Given the description of an element on the screen output the (x, y) to click on. 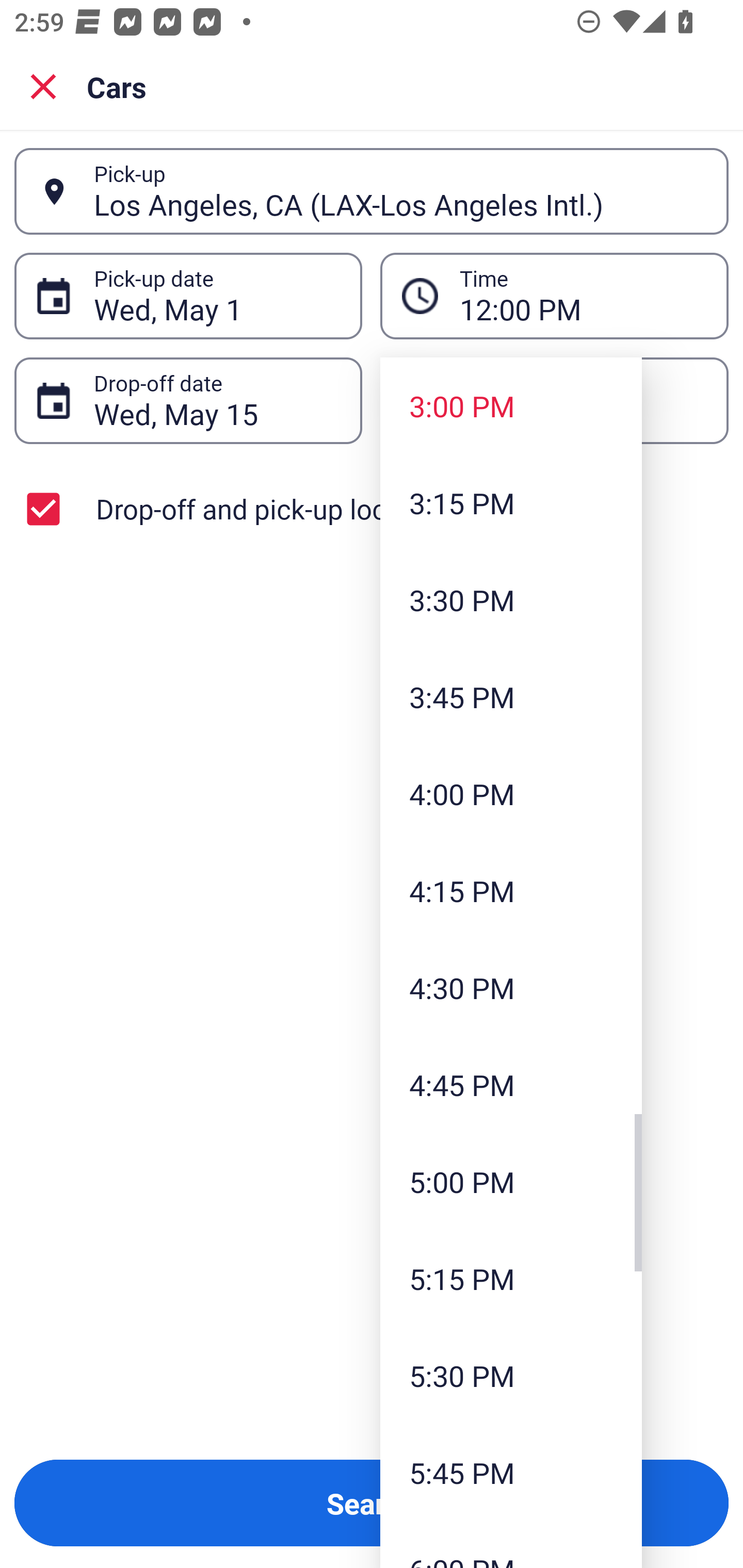
3:00 PM (510, 405)
3:15 PM (510, 502)
3:30 PM (510, 599)
3:45 PM (510, 695)
4:00 PM (510, 793)
4:15 PM (510, 890)
4:30 PM (510, 987)
4:45 PM (510, 1084)
5:00 PM (510, 1181)
5:15 PM (510, 1278)
5:30 PM (510, 1374)
5:45 PM (510, 1471)
